Given the description of an element on the screen output the (x, y) to click on. 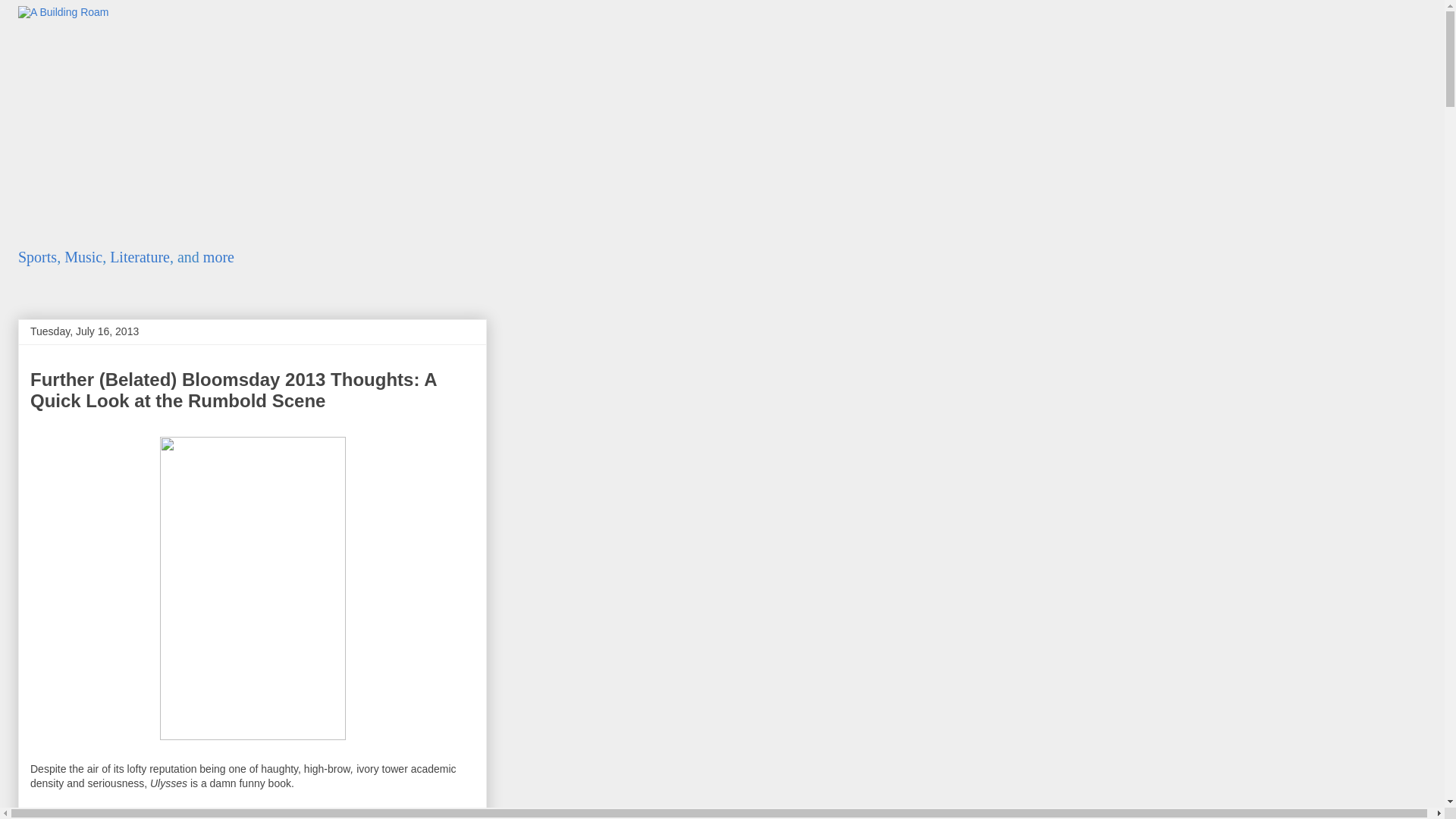
Sports (36, 256)
Literature (140, 256)
more (218, 256)
Music (82, 256)
